Given the description of an element on the screen output the (x, y) to click on. 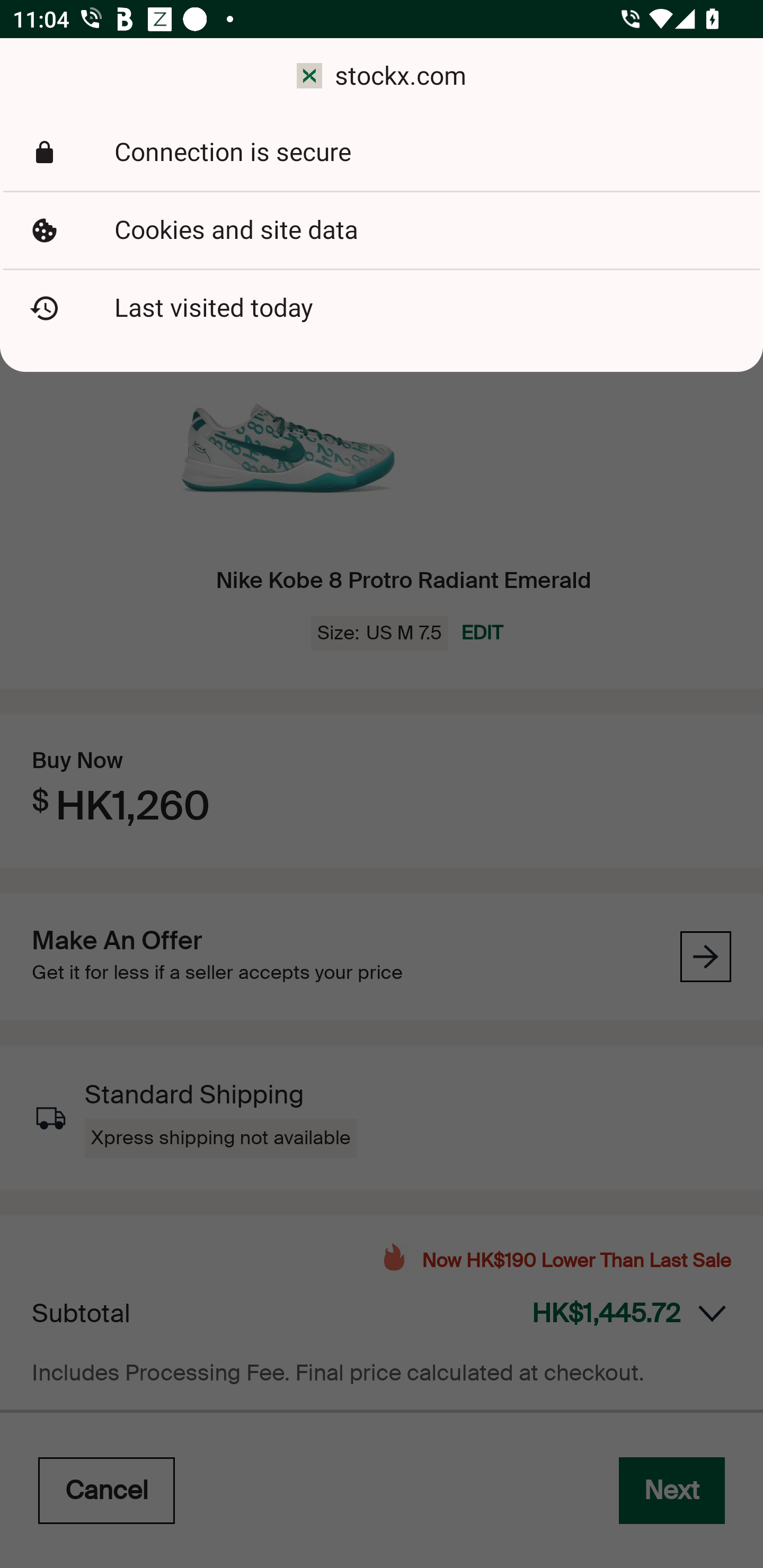
stockx.com (381, 75)
Connection is secure (381, 152)
Cookies and site data (381, 230)
Last visited today (381, 307)
